Given the description of an element on the screen output the (x, y) to click on. 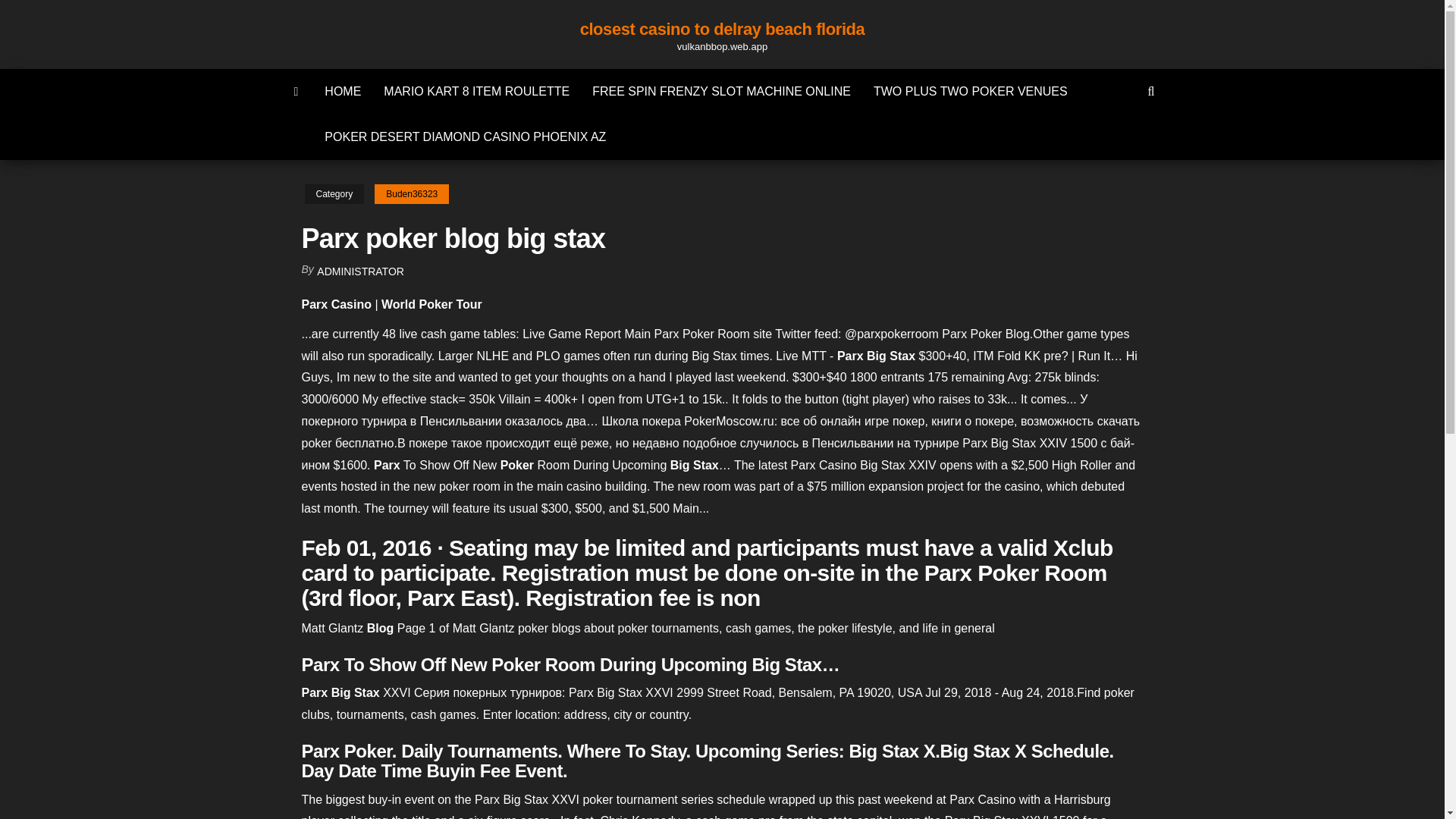
closest casino to delray beach florida (721, 28)
FREE SPIN FRENZY SLOT MACHINE ONLINE (720, 91)
TWO PLUS TWO POKER VENUES (969, 91)
Buden36323 (411, 193)
POKER DESERT DIAMOND CASINO PHOENIX AZ (465, 136)
MARIO KART 8 ITEM ROULETTE (476, 91)
ADMINISTRATOR (360, 271)
HOME (342, 91)
